Given the description of an element on the screen output the (x, y) to click on. 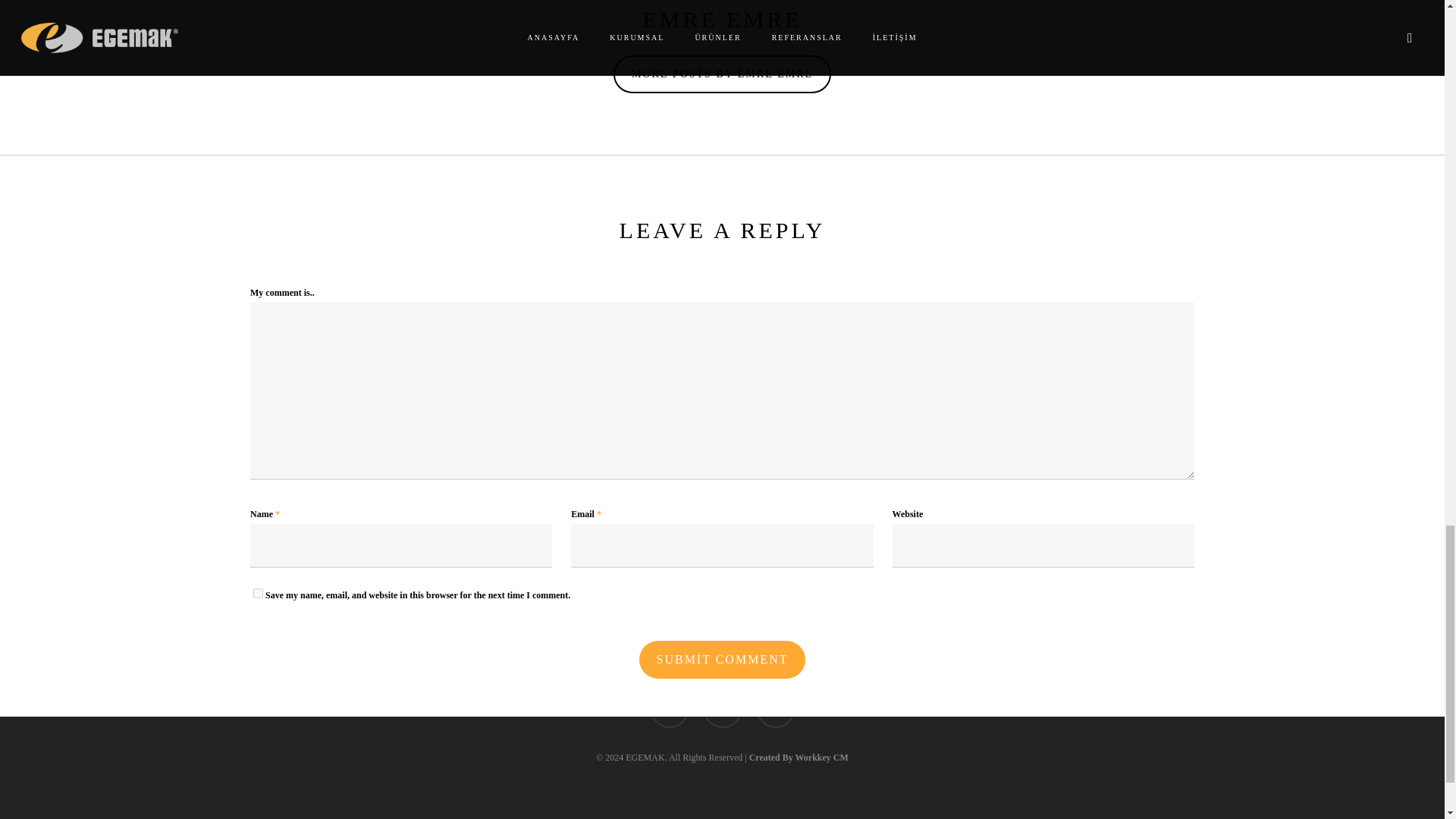
MORE POSTS BY EMRE EMRE (721, 74)
yes (258, 593)
Submit Comment (722, 659)
Submit Comment (722, 659)
